Given the description of an element on the screen output the (x, y) to click on. 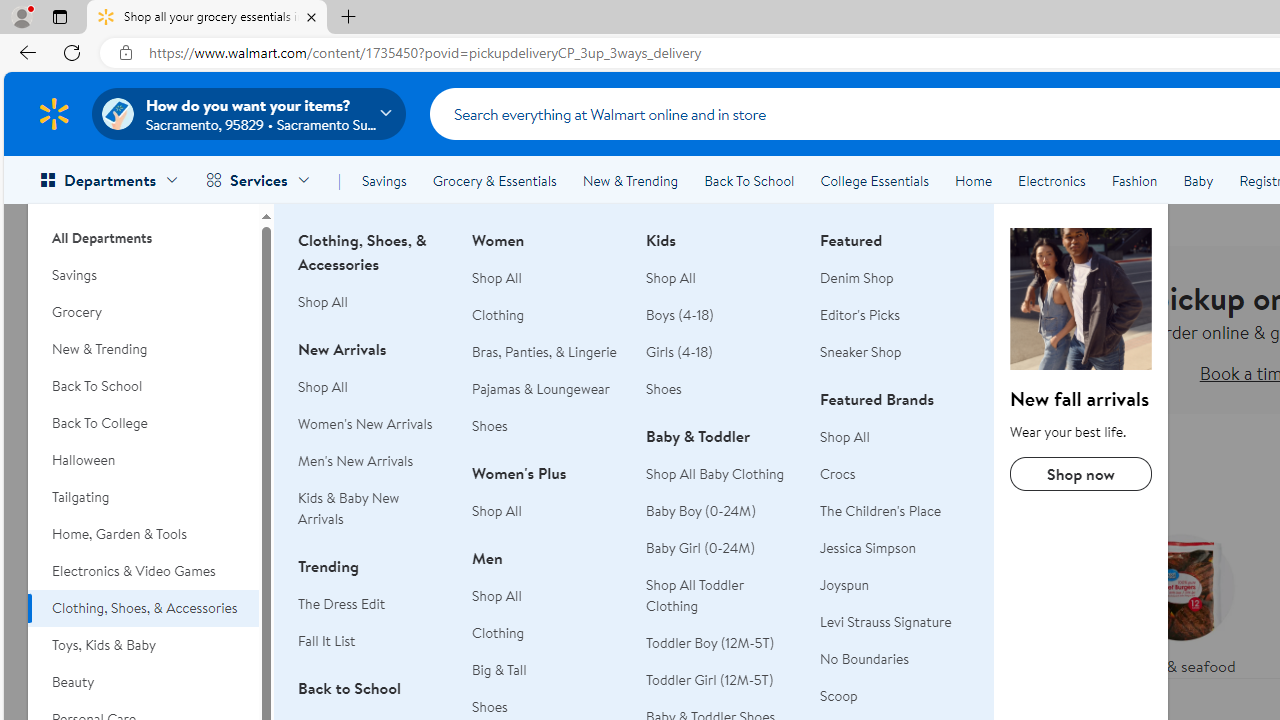
Halloween (143, 460)
Girls (4-18) (721, 352)
Toddler Boy (12M-5T) (710, 642)
Tailgating (143, 497)
Fall It List (326, 640)
Scoop (895, 696)
Levi Strauss Signature (886, 622)
Toys, Kids & Baby (143, 645)
